Given the description of an element on the screen output the (x, y) to click on. 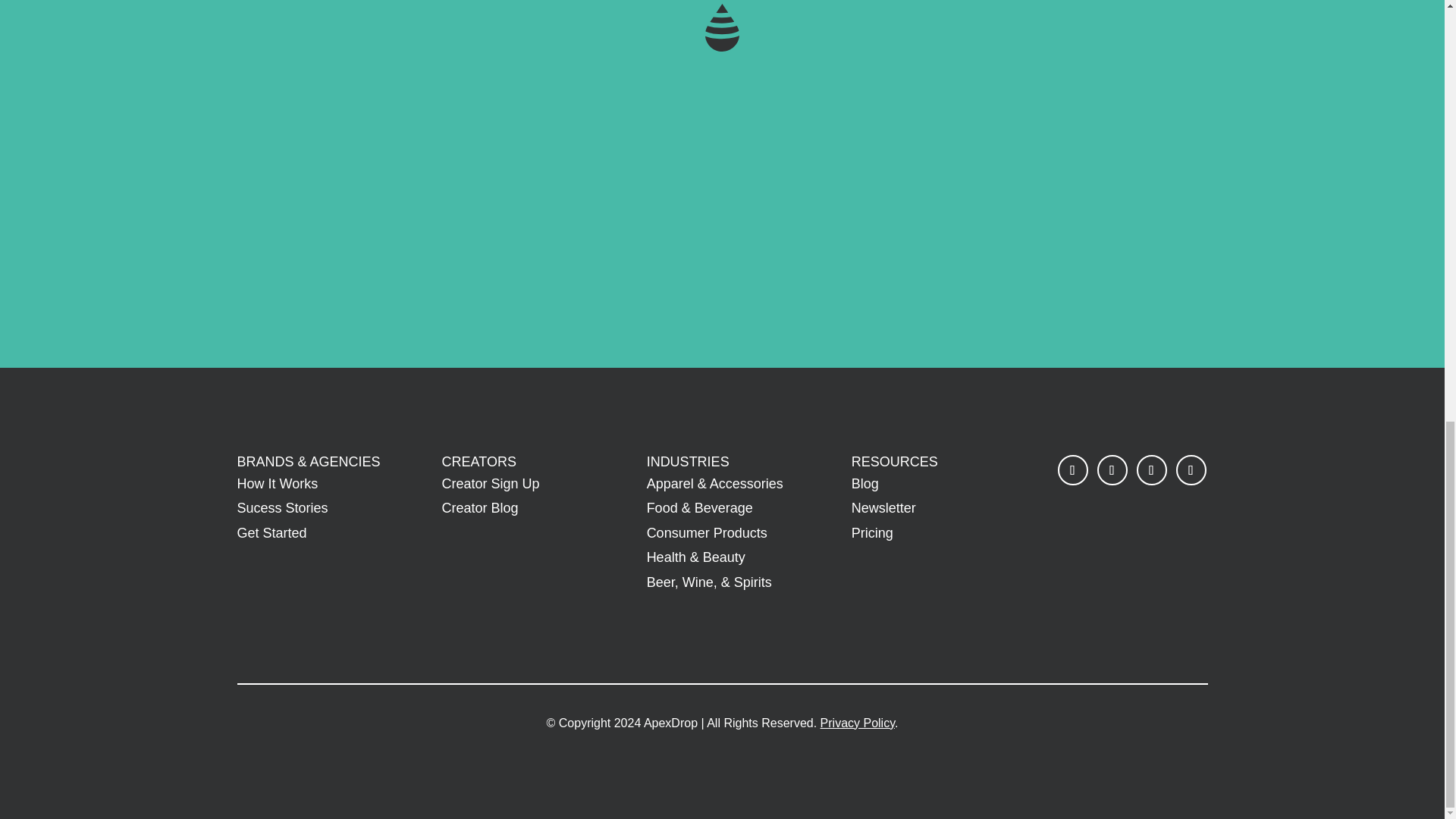
Follow on Instagram (1111, 470)
Follow on Facebook (1072, 470)
Follow on TikTok (1152, 470)
Follow on Youtube (1191, 470)
